Given the description of an element on the screen output the (x, y) to click on. 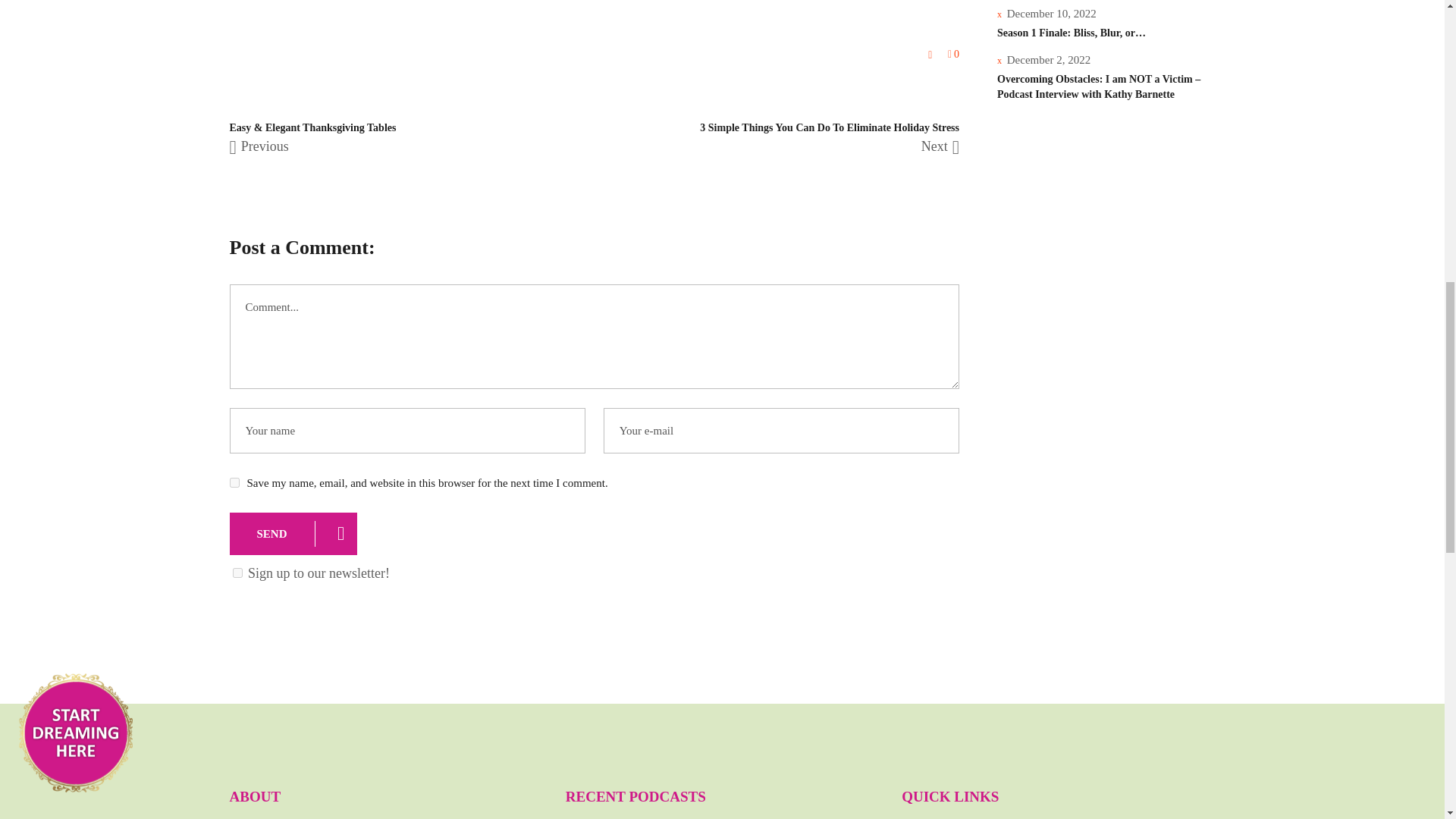
Like this (953, 53)
3 Simple Things You Can Do To Eliminate Holiday Stress (829, 126)
yes (233, 482)
1 (236, 572)
